Given the description of an element on the screen output the (x, y) to click on. 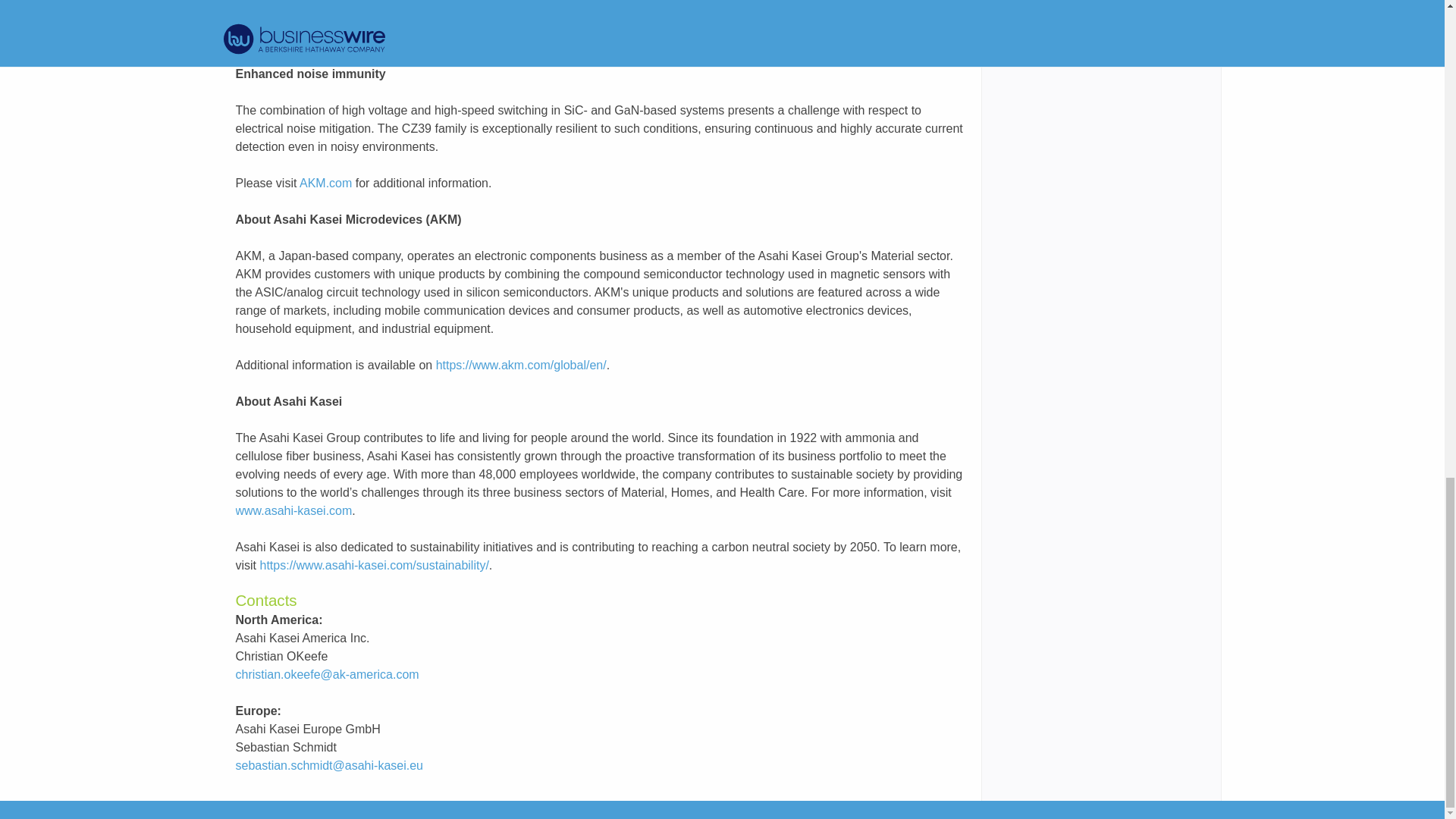
www.asahi-kasei.com (293, 510)
AKM.com (325, 182)
